Given the description of an element on the screen output the (x, y) to click on. 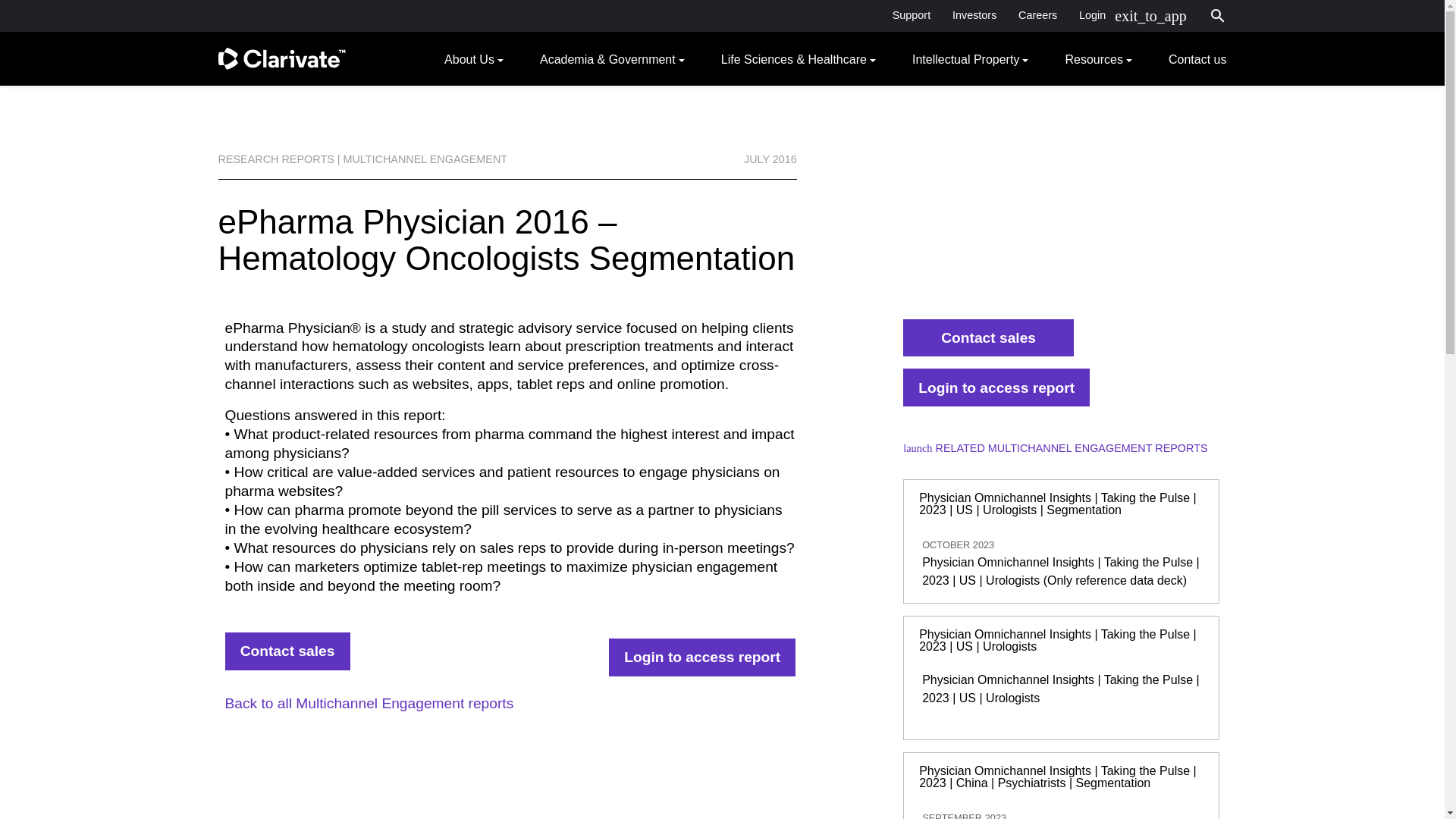
About Us (473, 58)
Investors (974, 15)
Careers (1037, 15)
Support (910, 15)
